Given the description of an element on the screen output the (x, y) to click on. 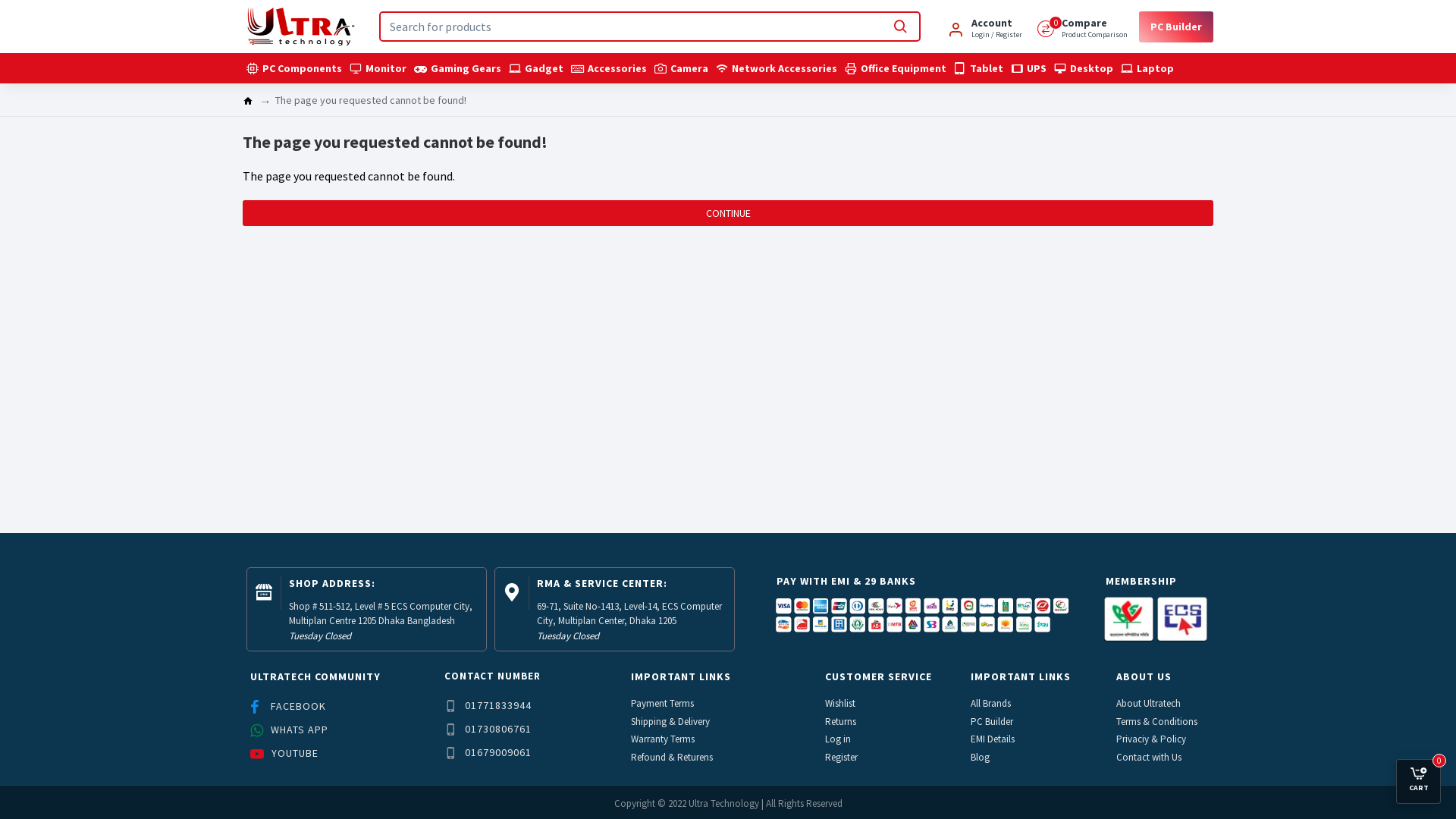
Blog Element type: text (980, 756)
Compare
Product Comparison
0 Element type: text (1082, 26)
01679009061 Element type: text (489, 752)
Accessories Element type: text (608, 68)
Ultra Technology Element type: hover (299, 26)
Office Equipment Element type: text (895, 68)
Gadget Element type: text (536, 68)
Monitor Element type: text (377, 68)
01771833944 Element type: text (489, 705)
WHATS APP Element type: text (291, 729)
Register Element type: text (842, 756)
Terms & Conditions Element type: text (1157, 721)
About Ultratech Element type: text (1149, 703)
Gaming Gears Element type: text (457, 68)
The page you requested cannot be found! Element type: text (370, 100)
Warranty Terms Element type: text (663, 739)
Network Accessories Element type: text (776, 68)
FACEBOOK Element type: text (289, 706)
Payment Terms Element type: text (662, 703)
Tablet Element type: text (978, 68)
Camera Element type: text (681, 68)
Wishlist Element type: text (840, 703)
All Brands Element type: text (991, 703)
Desktop Element type: text (1083, 68)
YOUTUBE Element type: text (286, 753)
PC Builder Element type: text (992, 721)
CONTINUE Element type: text (727, 212)
UPS Element type: text (1028, 68)
PC Builder Element type: text (1176, 25)
01730806761 Element type: text (489, 728)
Privaciy & Policy Element type: text (1151, 739)
Log in Element type: text (838, 739)
Account
Login / Register Element type: text (984, 26)
PC Components Element type: text (293, 68)
Returns Element type: text (841, 721)
EMI Details Element type: text (993, 739)
Shipping & Delivery Element type: text (670, 721)
Laptop Element type: text (1147, 68)
Contact with Us Element type: text (1149, 756)
Refound & Returens Element type: text (672, 756)
CART
0 Element type: text (1418, 778)
